Given the description of an element on the screen output the (x, y) to click on. 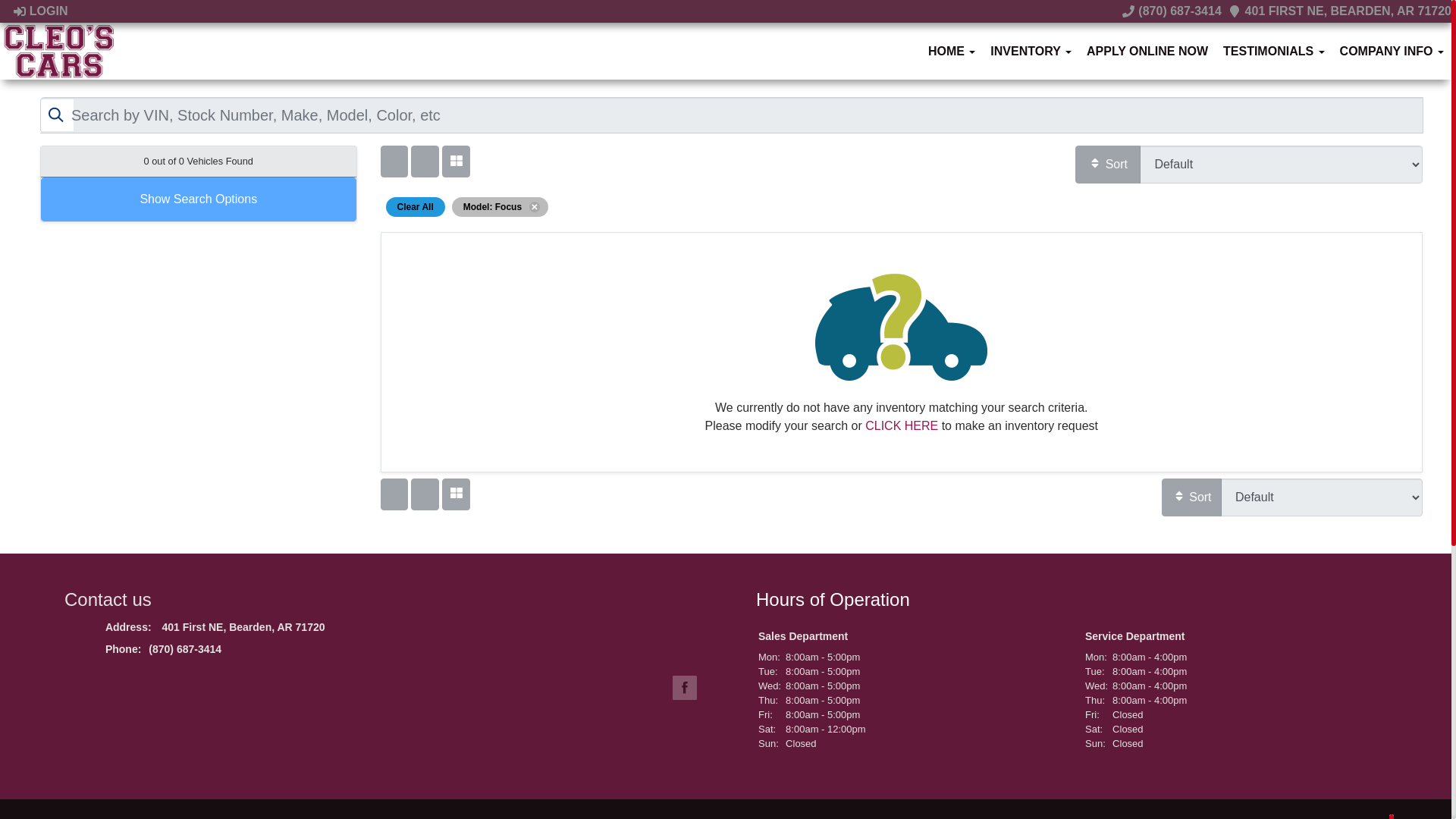
Show Search Options (198, 199)
Show vehicle listings in a single column list view (393, 161)
INVENTORY (1030, 50)
Sort (1107, 164)
Clear All (415, 206)
Show vehicle listings in a large multi-column grid view (424, 161)
HOME (951, 50)
Sort (1191, 497)
CLICK HERE (900, 425)
Show vehicle listings in a multi-column grid view (455, 161)
Show vehicle listings in a multi-column grid view (455, 494)
TESTIMONIALS (1273, 50)
LOGIN (39, 10)
Show vehicle listings in a large multi-column grid view (424, 494)
